Given the description of an element on the screen output the (x, y) to click on. 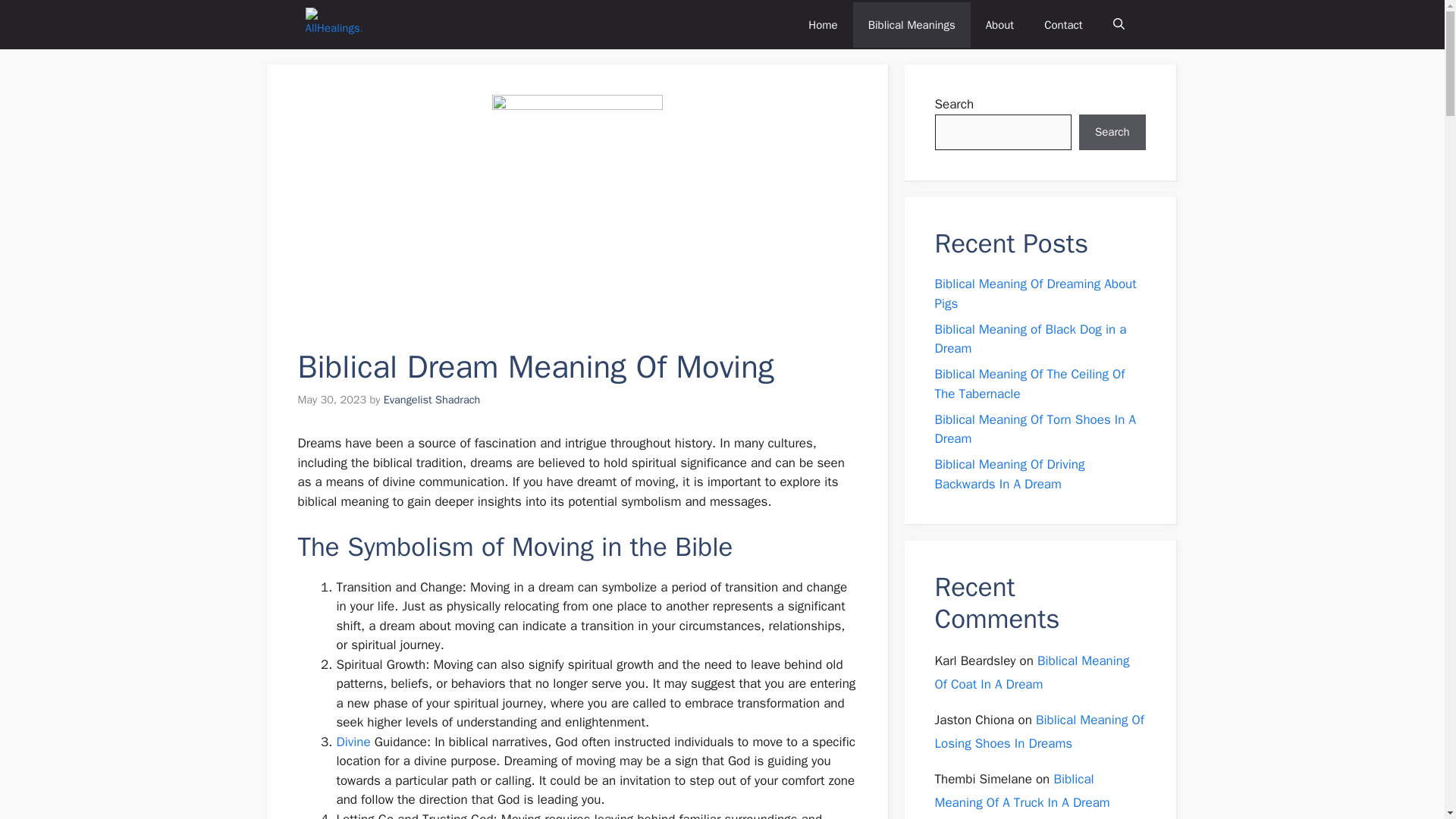
Biblical Meaning Of Losing Shoes In Dreams (1038, 731)
Home (822, 23)
View all posts by Evangelist Shadrach (432, 399)
Biblical Meaning Of A Truck In A Dream (1021, 790)
Biblical Meaning Of Dreaming About Pigs (1034, 294)
Evangelist Shadrach (432, 399)
Divine (353, 741)
Search (1111, 131)
Biblical Meaning Of The Ceiling Of The Tabernacle (1029, 384)
AllHealings.com (332, 24)
